Given the description of an element on the screen output the (x, y) to click on. 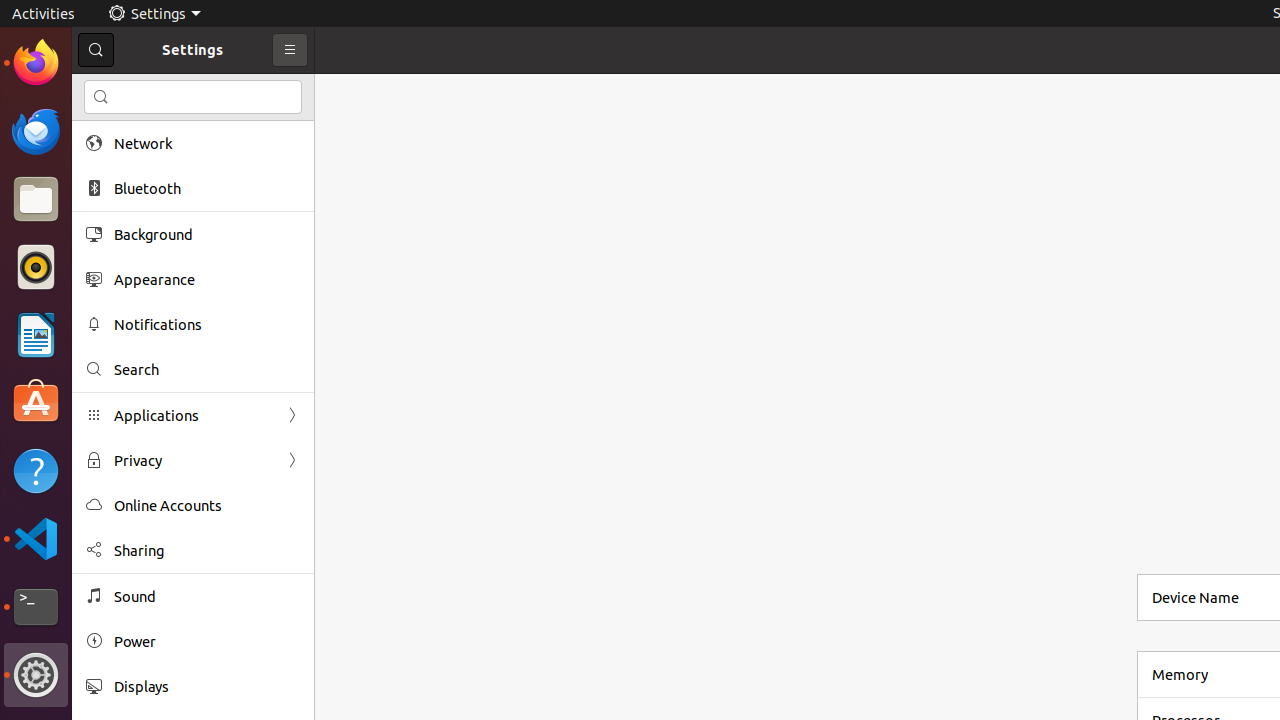
Trash Element type: label (133, 191)
Primary Menu Element type: toggle-button (290, 50)
Activities Element type: label (43, 13)
Settings Element type: push-button (36, 675)
Background Element type: label (207, 234)
